Given the description of an element on the screen output the (x, y) to click on. 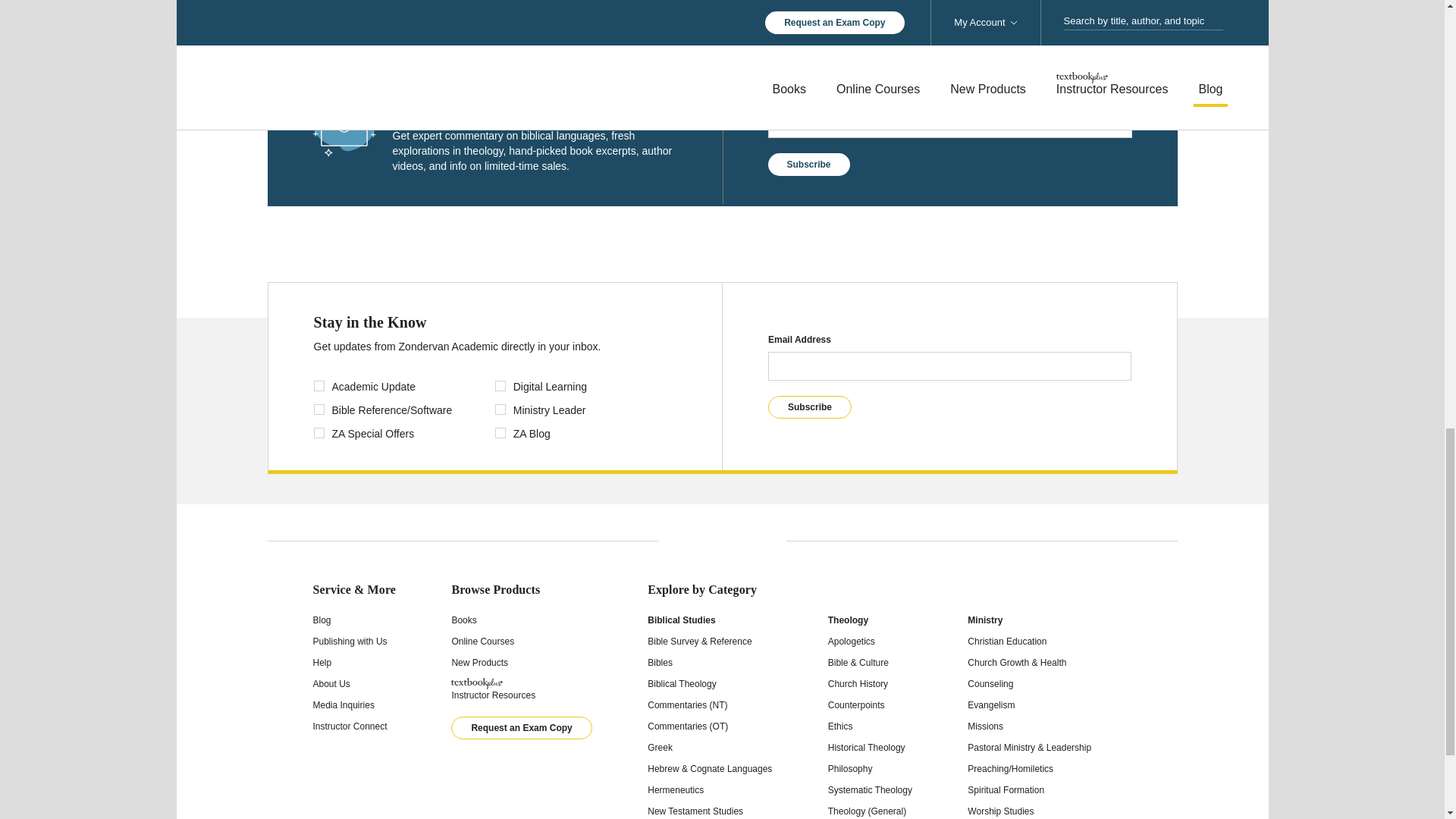
Subscribe (809, 406)
Subscribe (807, 164)
